Given the description of an element on the screen output the (x, y) to click on. 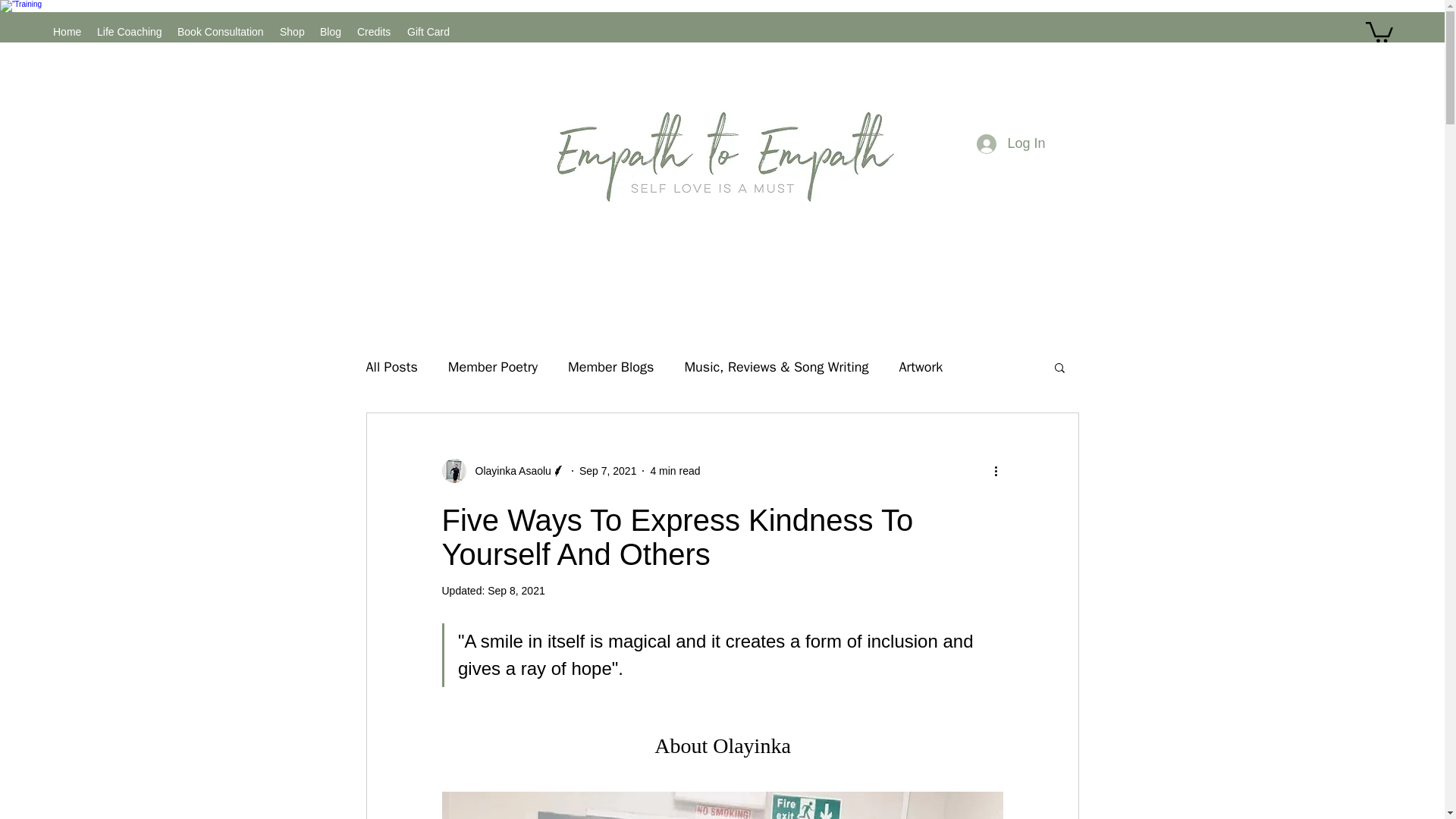
Sep 8, 2021 (515, 590)
All Posts (390, 366)
4 min read (674, 470)
Book Consultation (221, 31)
Life Coaching (129, 31)
Shop (292, 31)
Member Blogs (610, 366)
Gift Card (428, 31)
Sep 7, 2021 (608, 470)
Home (66, 31)
Member Poetry (492, 366)
Olayinka Asaolu (502, 470)
Blog (331, 31)
Log In (1010, 143)
Artwork (920, 366)
